Given the description of an element on the screen output the (x, y) to click on. 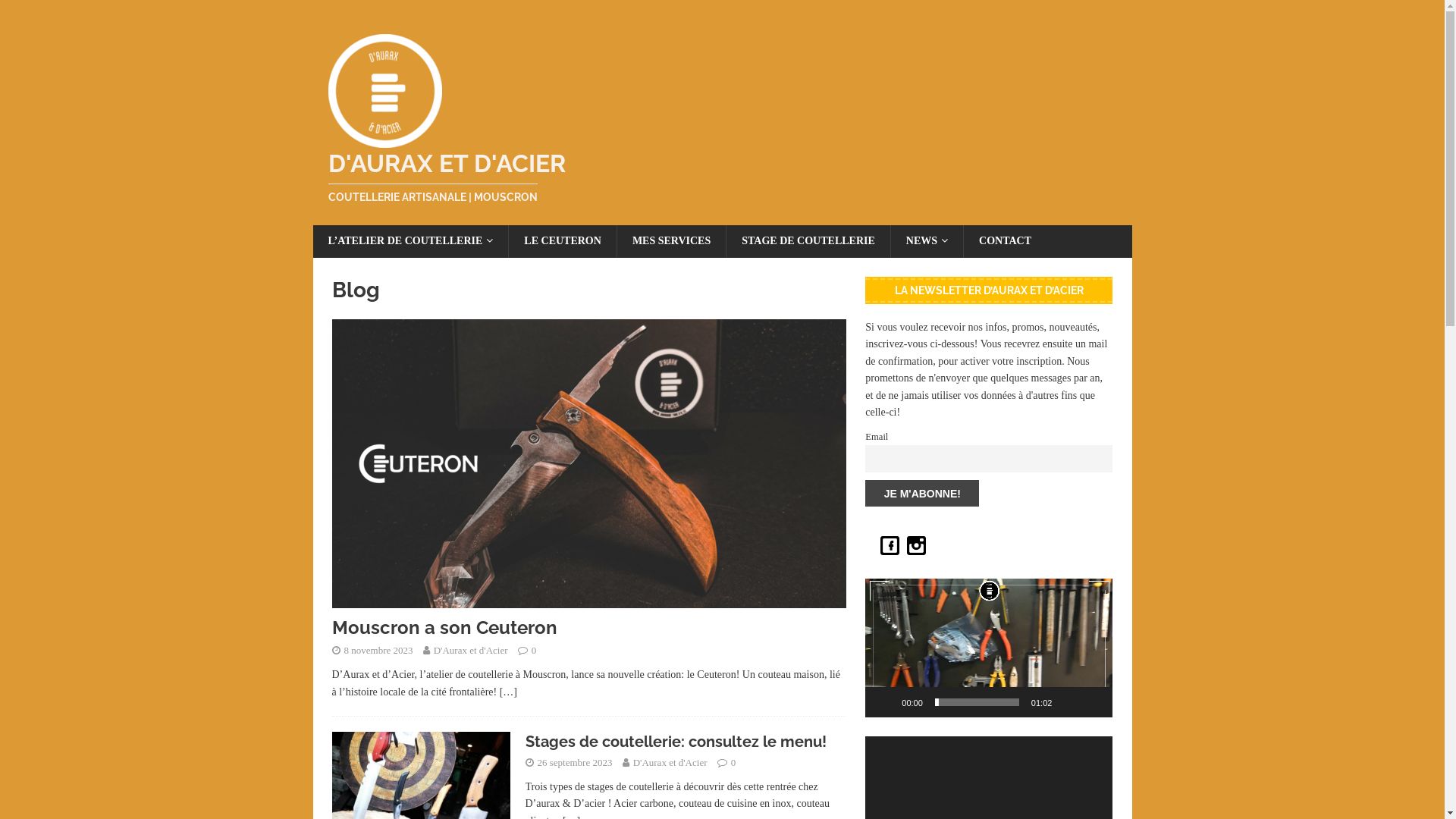
Lecture Element type: hover (884, 701)
Je m'abonne! Element type: text (922, 493)
Mouscron a son Ceuteron Element type: hover (589, 599)
0 Element type: text (733, 762)
CONTACT Element type: text (1004, 241)
D'AURAX ET D'ACIER
COUTELLERIE ARTISANALE | MOUSCRON Element type: text (721, 177)
Muet Element type: hover (1068, 701)
Mouscron a son Ceuteron Element type: text (444, 627)
STAGE DE COUTELLERIE Element type: text (807, 241)
D'Aurax et d'Acier Element type: text (470, 649)
D'Aurax et d'Acier Element type: text (670, 762)
LE CEUTERON Element type: text (562, 241)
Rechercher Element type: text (56, 11)
Stages de coutellerie: consultez le menu! Element type: text (674, 741)
NEWS Element type: text (926, 241)
MES SERVICES Element type: text (670, 241)
0 Element type: text (533, 649)
